Given the description of an element on the screen output the (x, y) to click on. 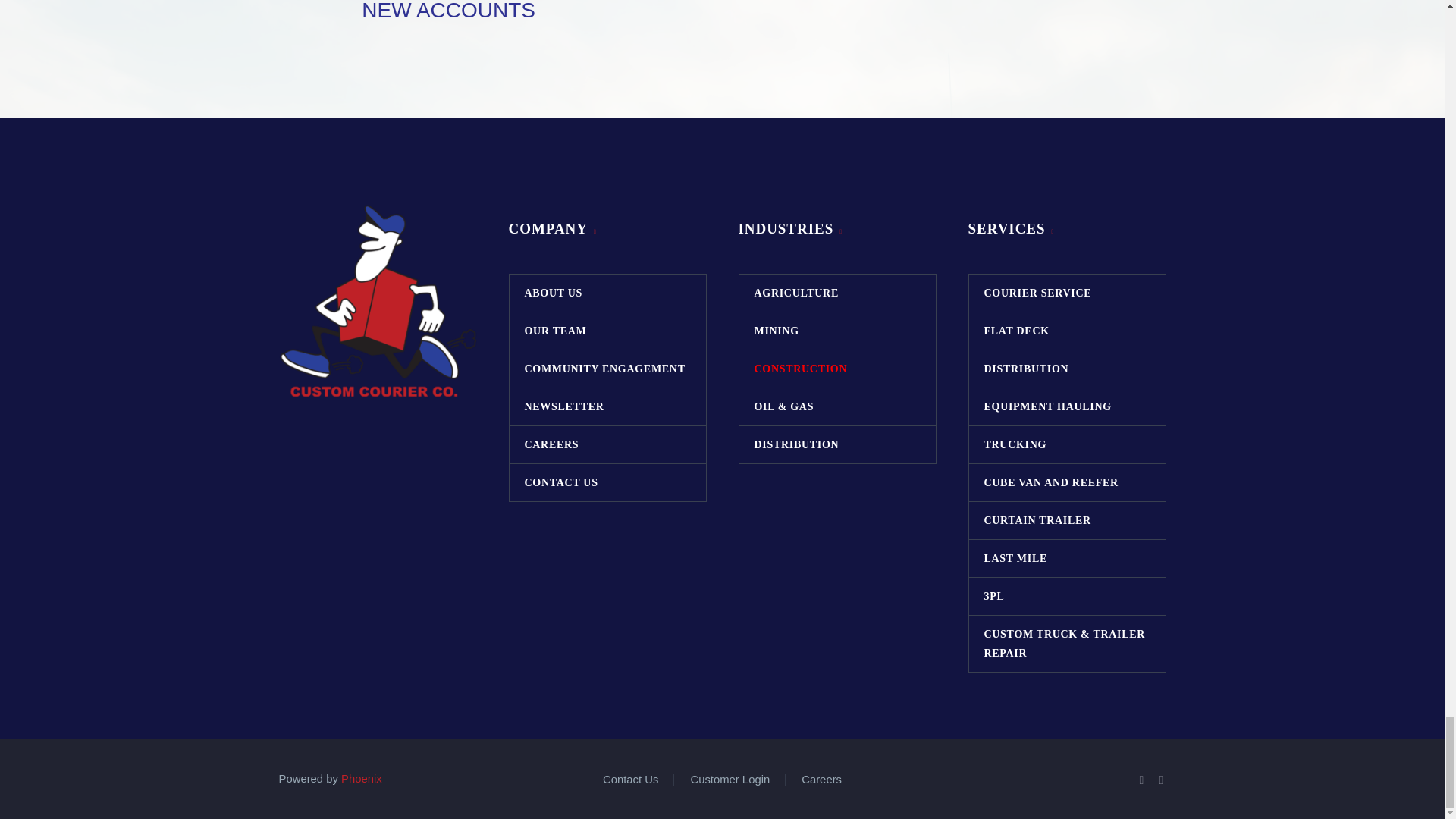
Facebook (1141, 779)
4010 Aronec Avenue (854, 34)
LinkedIn (1161, 779)
